Given the description of an element on the screen output the (x, y) to click on. 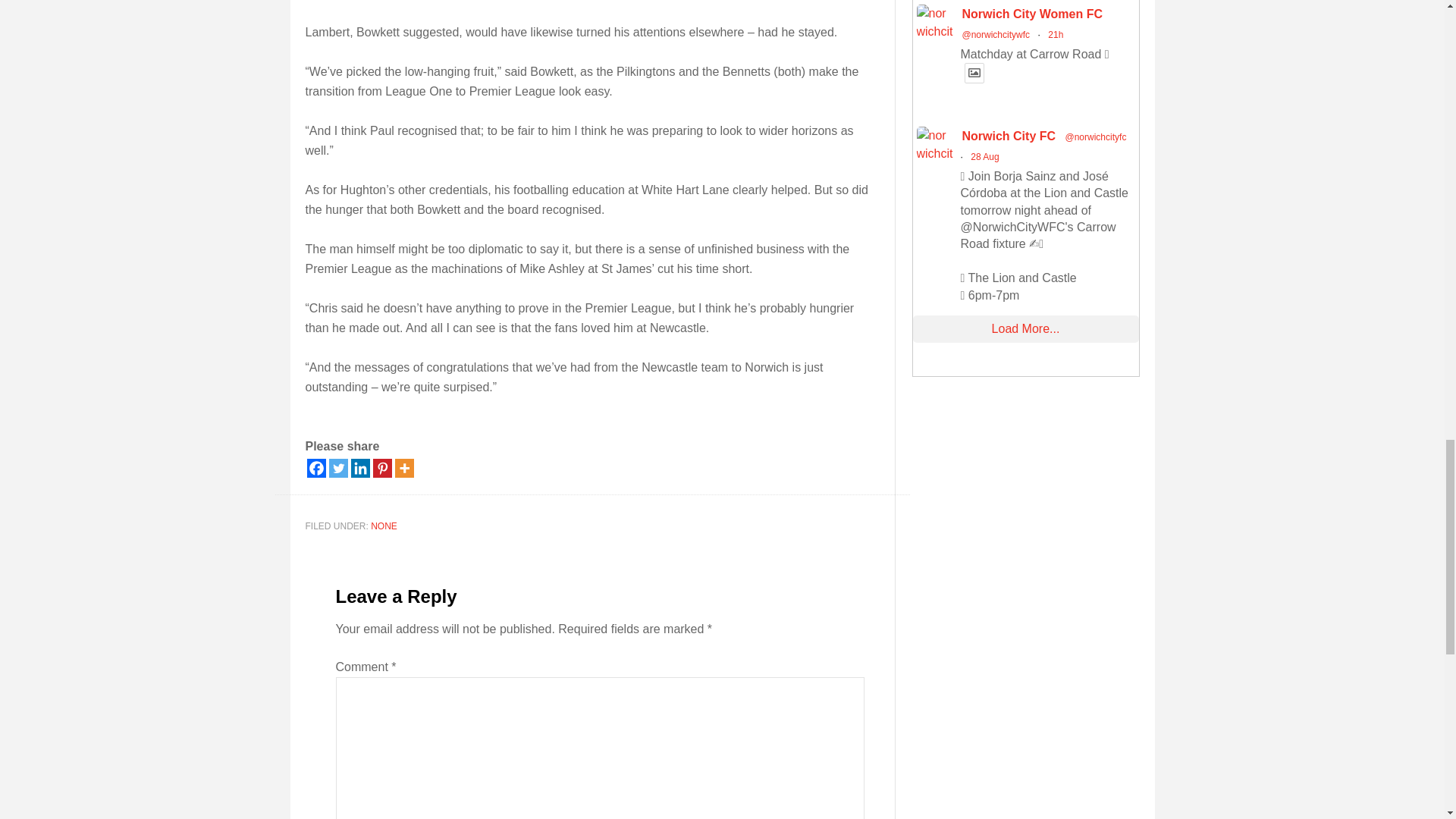
NONE (384, 525)
Linkedin (359, 467)
Facebook (314, 467)
More (403, 467)
Twitter (338, 467)
Pinterest (381, 467)
